Given the description of an element on the screen output the (x, y) to click on. 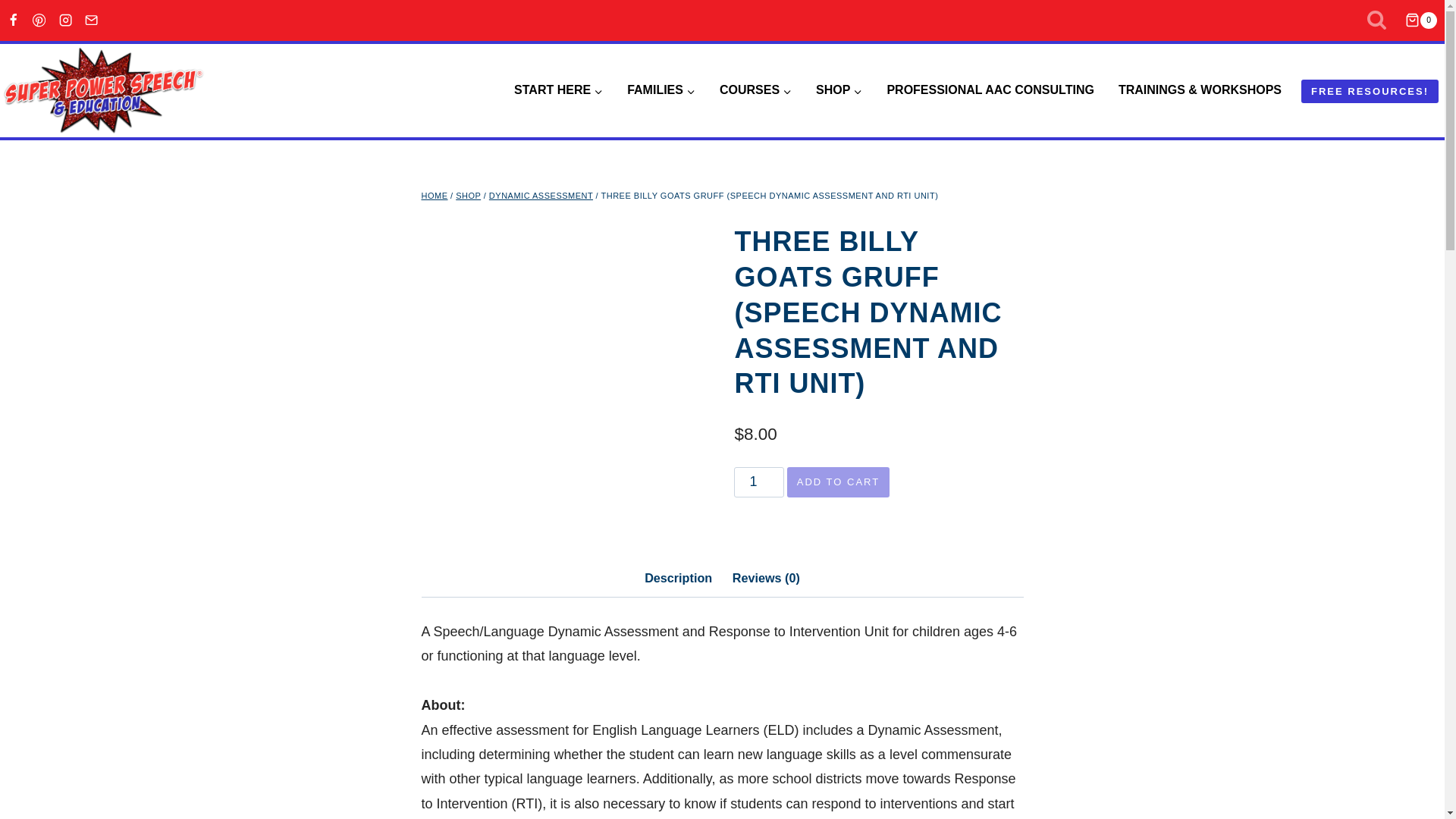
START HERE (558, 90)
SHOP (467, 194)
1 (758, 481)
ADD TO CART (838, 481)
COURSES (755, 90)
PROFESSIONAL AAC CONSULTING (990, 90)
DYNAMIC ASSESSMENT (540, 194)
SHOP (839, 90)
Description (678, 578)
FAMILIES (660, 90)
